Given the description of an element on the screen output the (x, y) to click on. 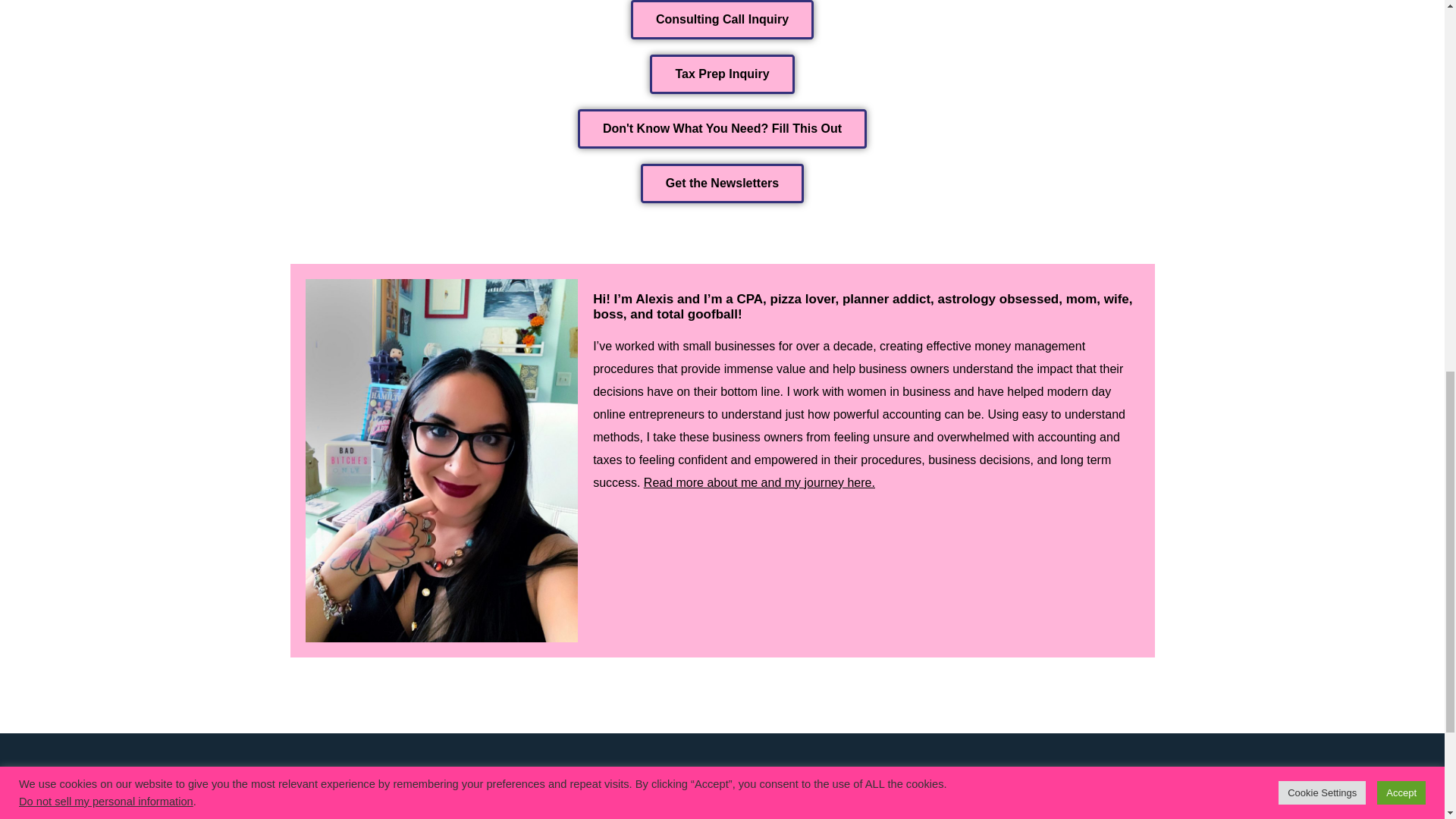
Don't Know What You Need? Fill This Out (722, 128)
Get the Newsletters (721, 183)
MY TOOLS (907, 776)
Tax Prep Inquiry (721, 74)
Read more about me and my journey here. (759, 481)
PRIVACY POLICY (628, 776)
TERMS (603, 799)
HOME PAGE (319, 776)
COURSES (313, 799)
Consulting Call Inquiry (721, 19)
MY COURSES (914, 799)
